Given the description of an element on the screen output the (x, y) to click on. 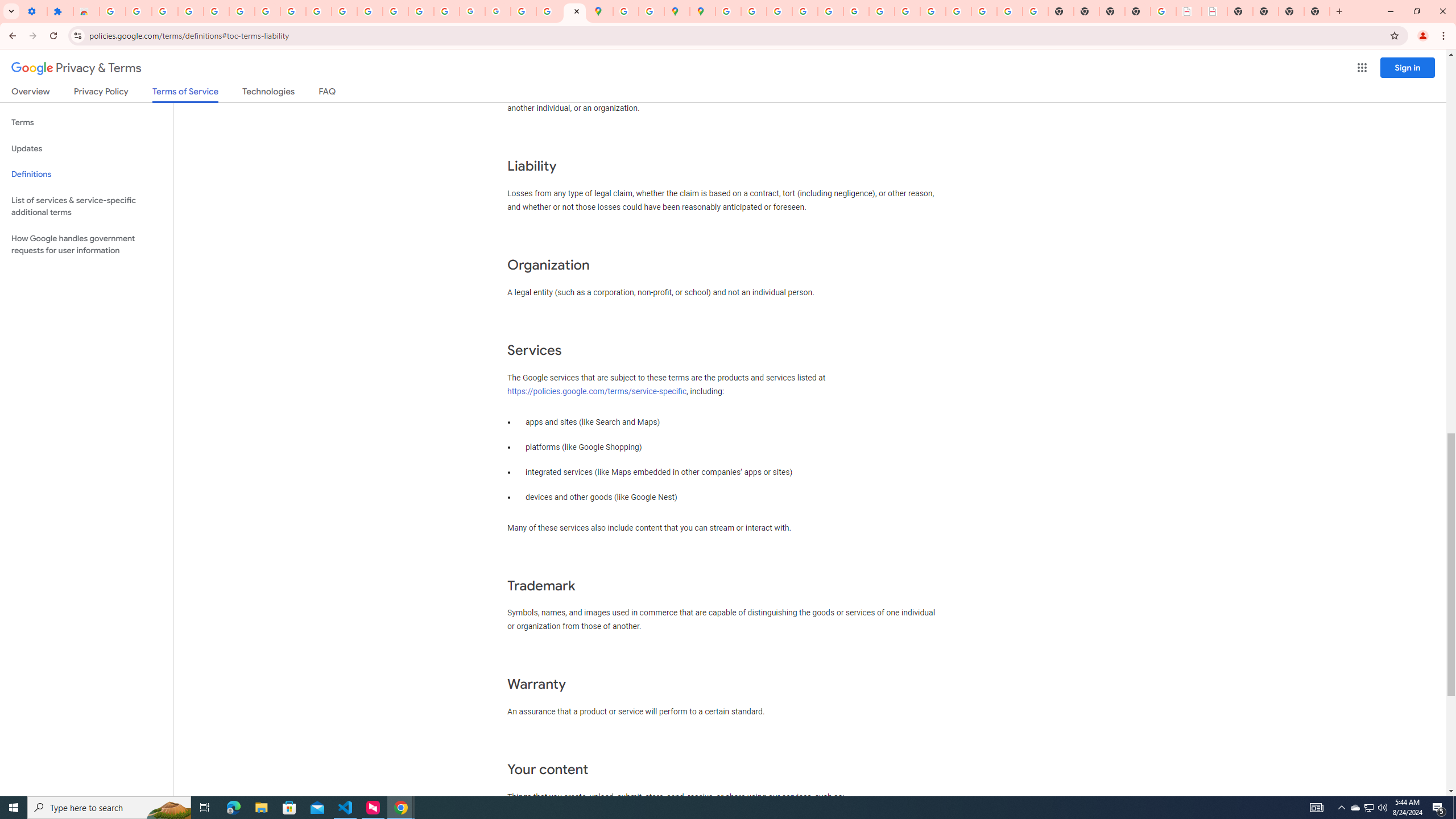
Address and search bar (735, 35)
New Tab (1316, 11)
View site information (77, 35)
Back (10, 35)
Google Images (1034, 11)
https://policies.google.com/terms/service-specific (596, 391)
Delete photos & videos - Computer - Google Photos Help (165, 11)
YouTube (881, 11)
How Google handles government requests for user information (86, 244)
Terms (86, 122)
